Given the description of an element on the screen output the (x, y) to click on. 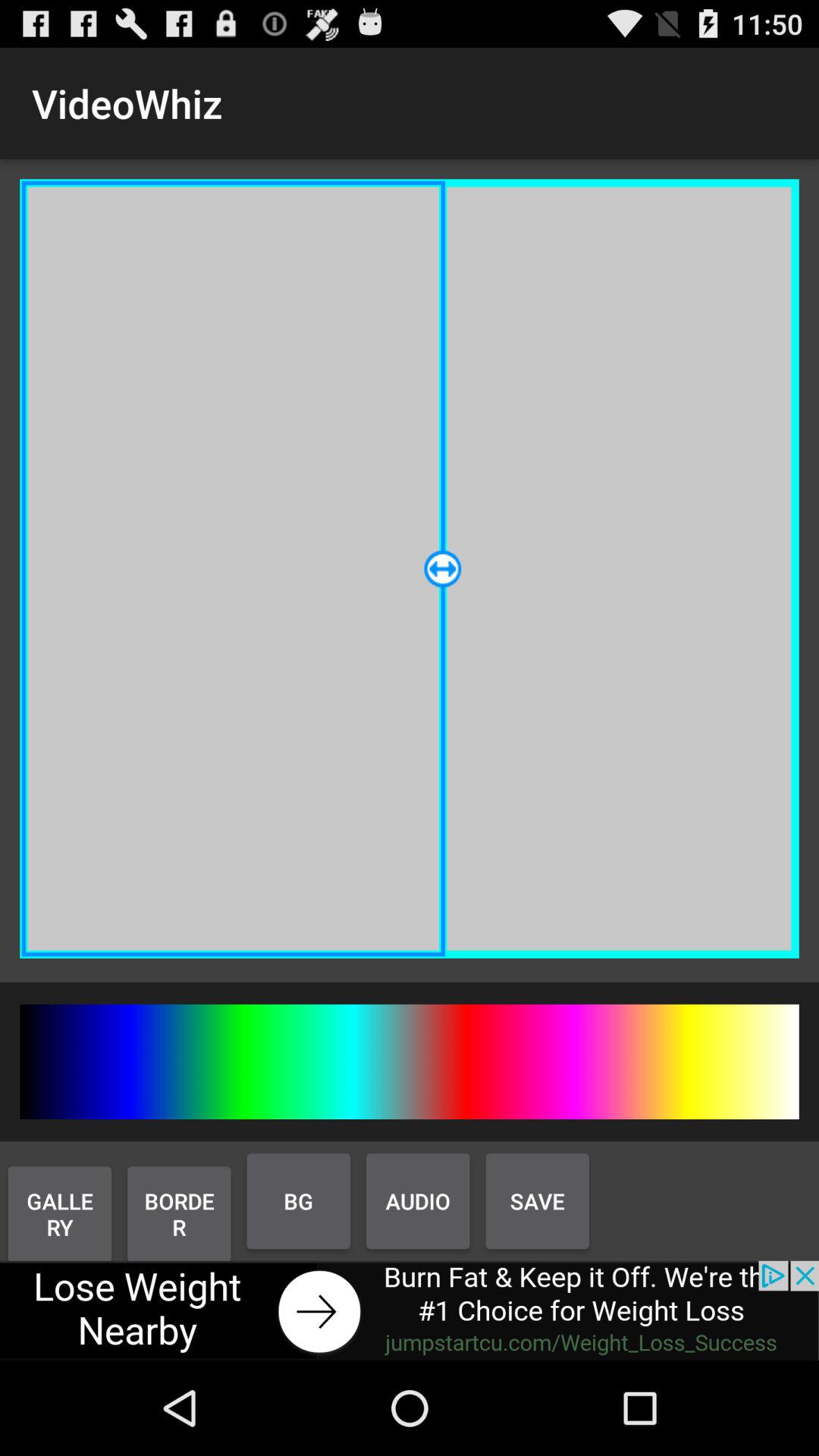
watch advertisement (409, 1310)
